Given the description of an element on the screen output the (x, y) to click on. 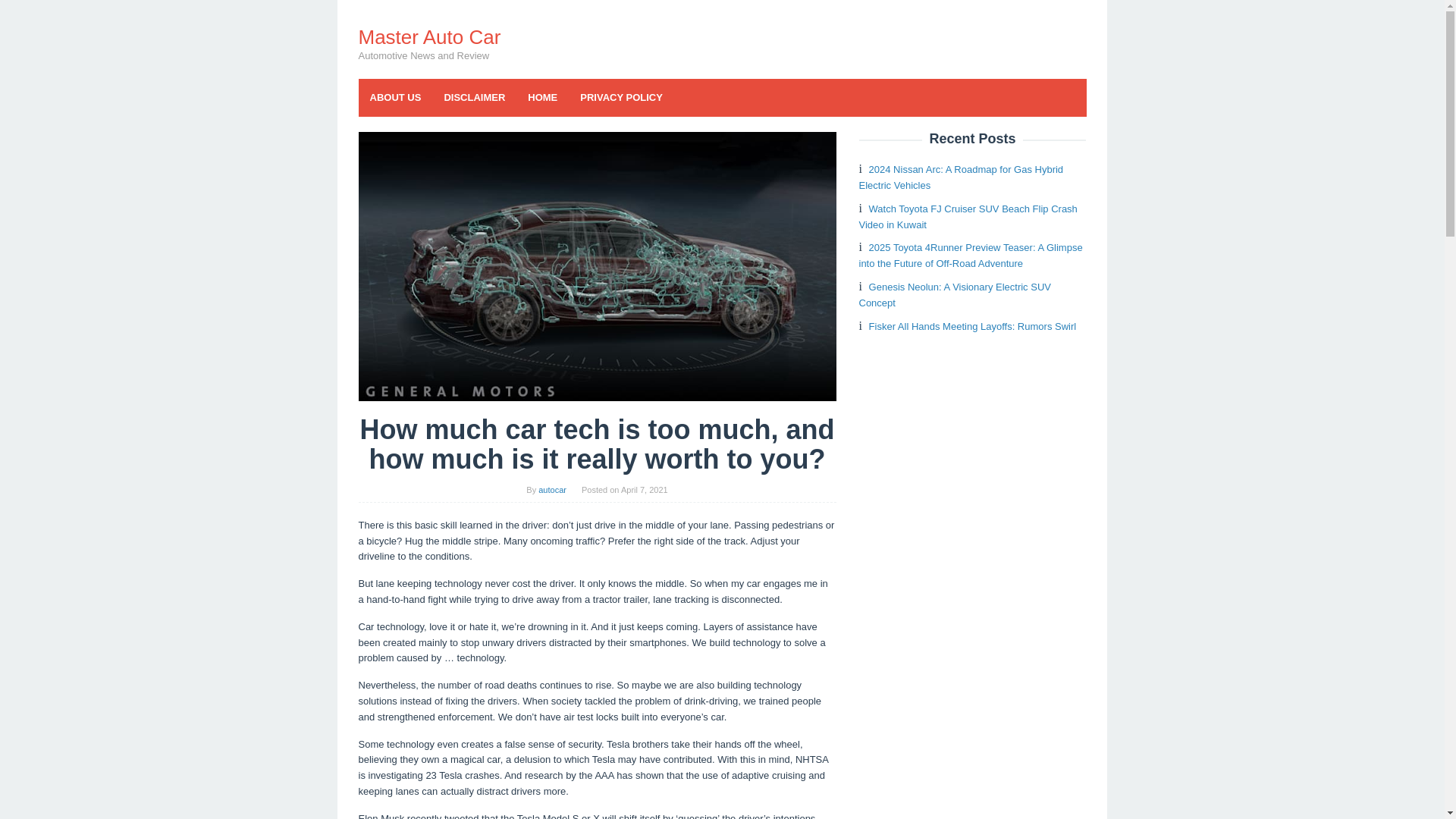
Genesis Neolun: A Visionary Electric SUV Concept (954, 294)
PRIVACY POLICY (621, 97)
DISCLAIMER (474, 97)
autocar (552, 489)
Master Auto Car (429, 36)
Master Auto Car (429, 36)
Watch Toyota FJ Cruiser SUV Beach Flip Crash Video in Kuwait (968, 216)
Permalink to: autocar (552, 489)
ABOUT US (395, 97)
2024 Nissan Arc: A Roadmap for Gas Hybrid Electric Vehicles (960, 176)
Fisker All Hands Meeting Layoffs: Rumors Swirl (973, 326)
How much car tech is too much, and how much (596, 265)
HOME (542, 97)
